Given the description of an element on the screen output the (x, y) to click on. 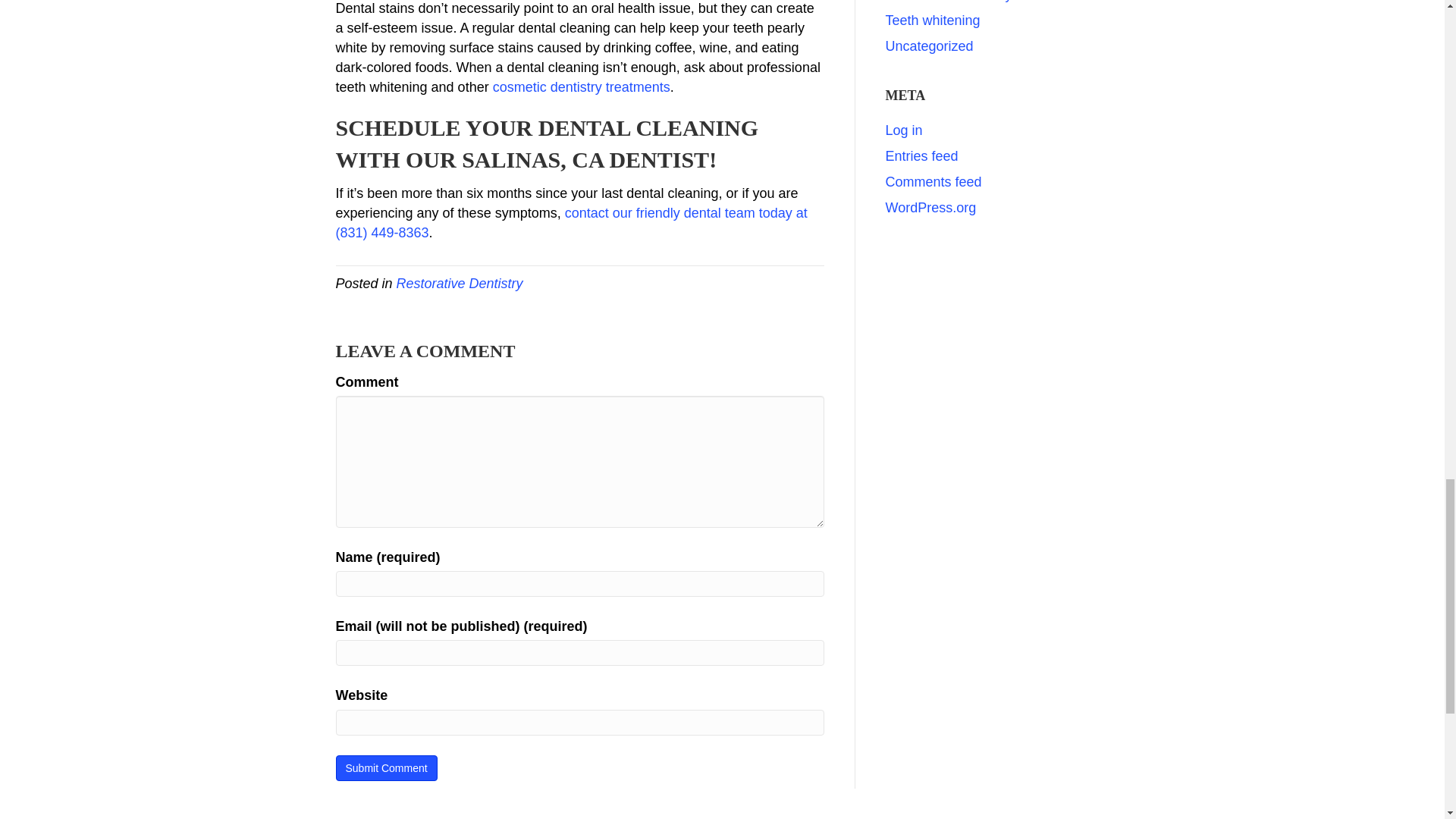
cosmetic dentistry treatments (581, 87)
Restorative Dentistry (459, 283)
Submit Comment (385, 768)
Submit Comment (385, 768)
